Given the description of an element on the screen output the (x, y) to click on. 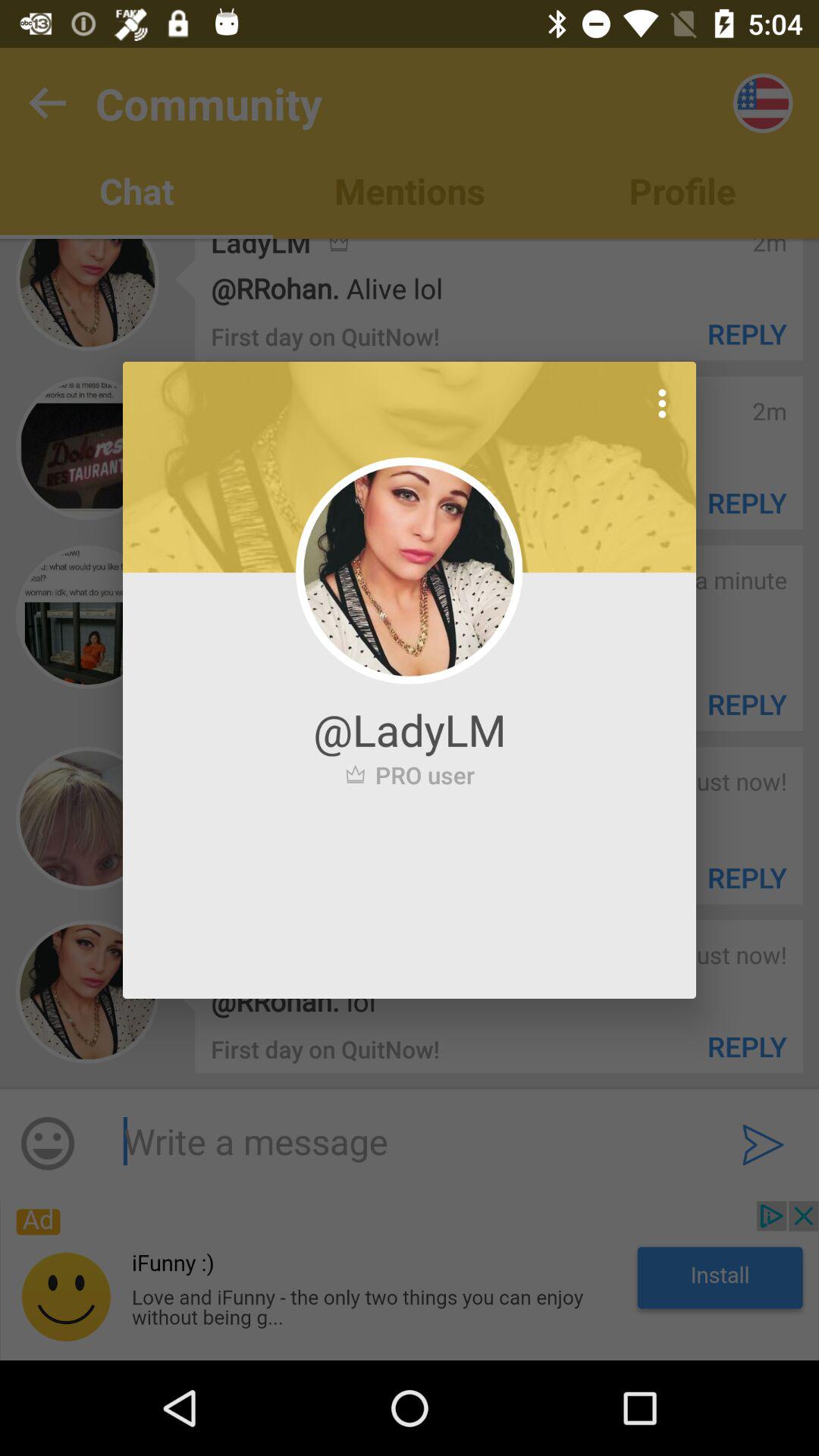
turn off item above @ladylm (662, 403)
